Given the description of an element on the screen output the (x, y) to click on. 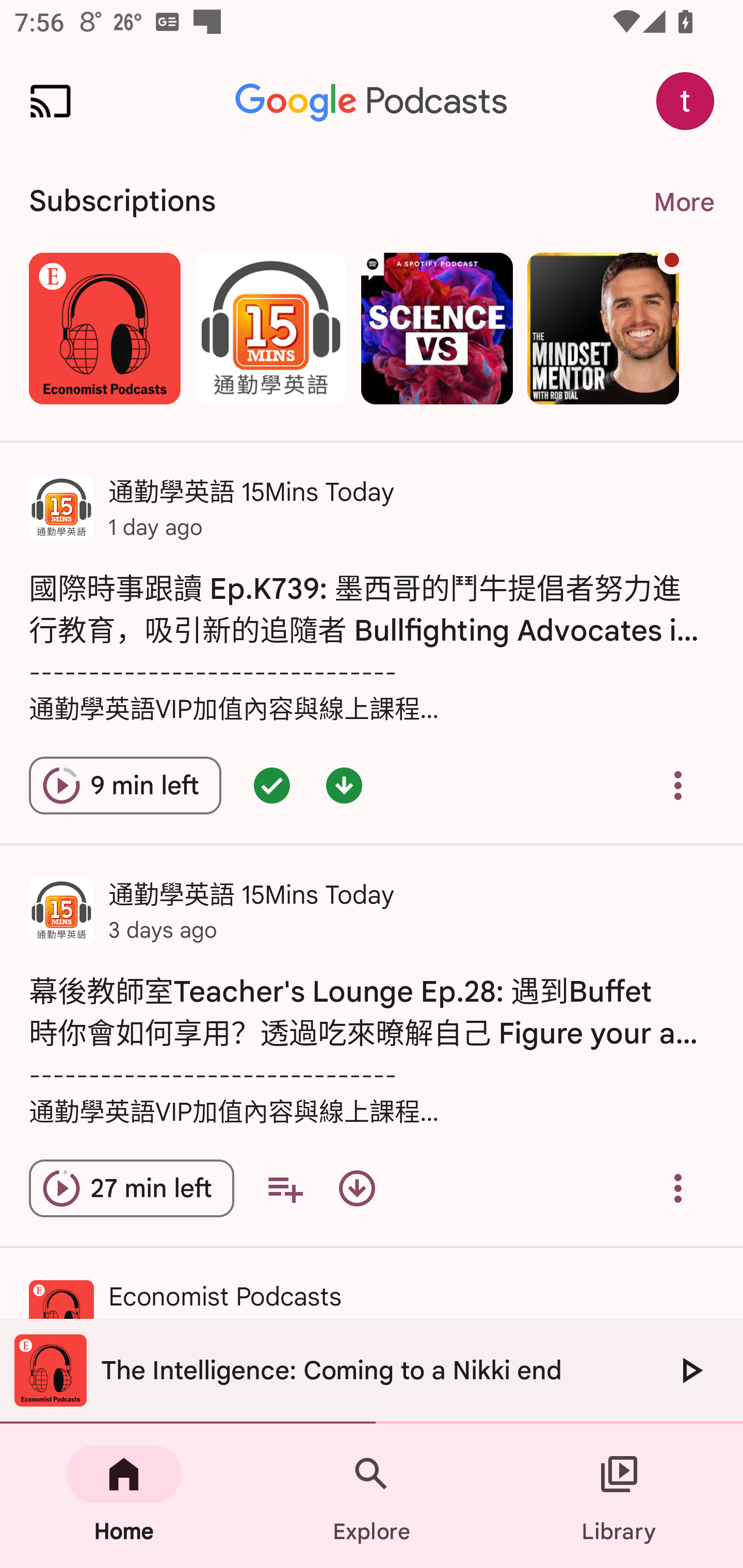
Cast. Disconnected (50, 101)
More More. Navigate to subscriptions page. (683, 202)
Economist Podcasts (104, 328)
通勤學英語 15Mins Today (270, 328)
Science Vs (436, 328)
The Mindset Mentor (603, 328)
Episode queued - double tap for options (271, 785)
Episode downloaded - double tap for options (344, 785)
Overflow menu (677, 785)
Add to your queue (284, 1188)
Download episode (356, 1188)
Overflow menu (677, 1188)
Play (690, 1370)
Explore (371, 1495)
Library (619, 1495)
